Given the description of an element on the screen output the (x, y) to click on. 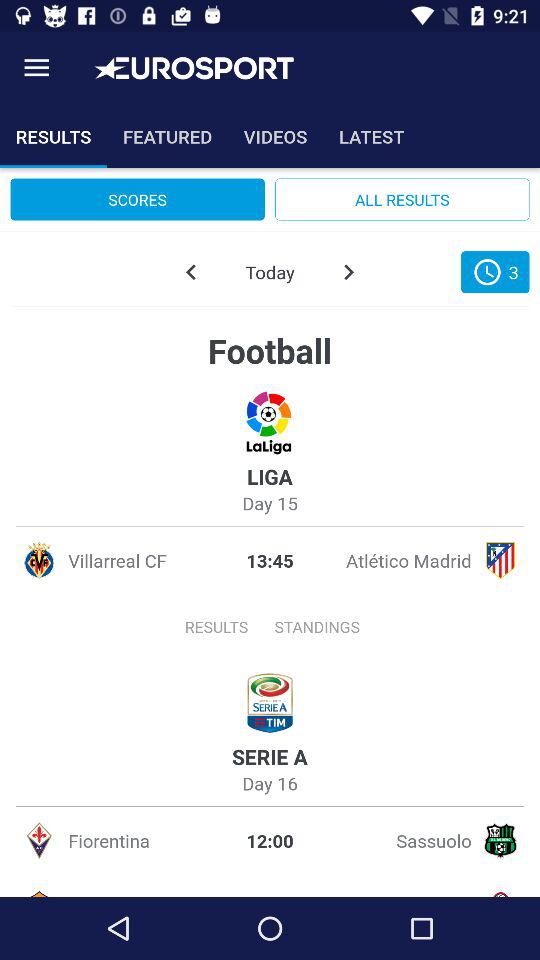
go to next day (348, 272)
